Given the description of an element on the screen output the (x, y) to click on. 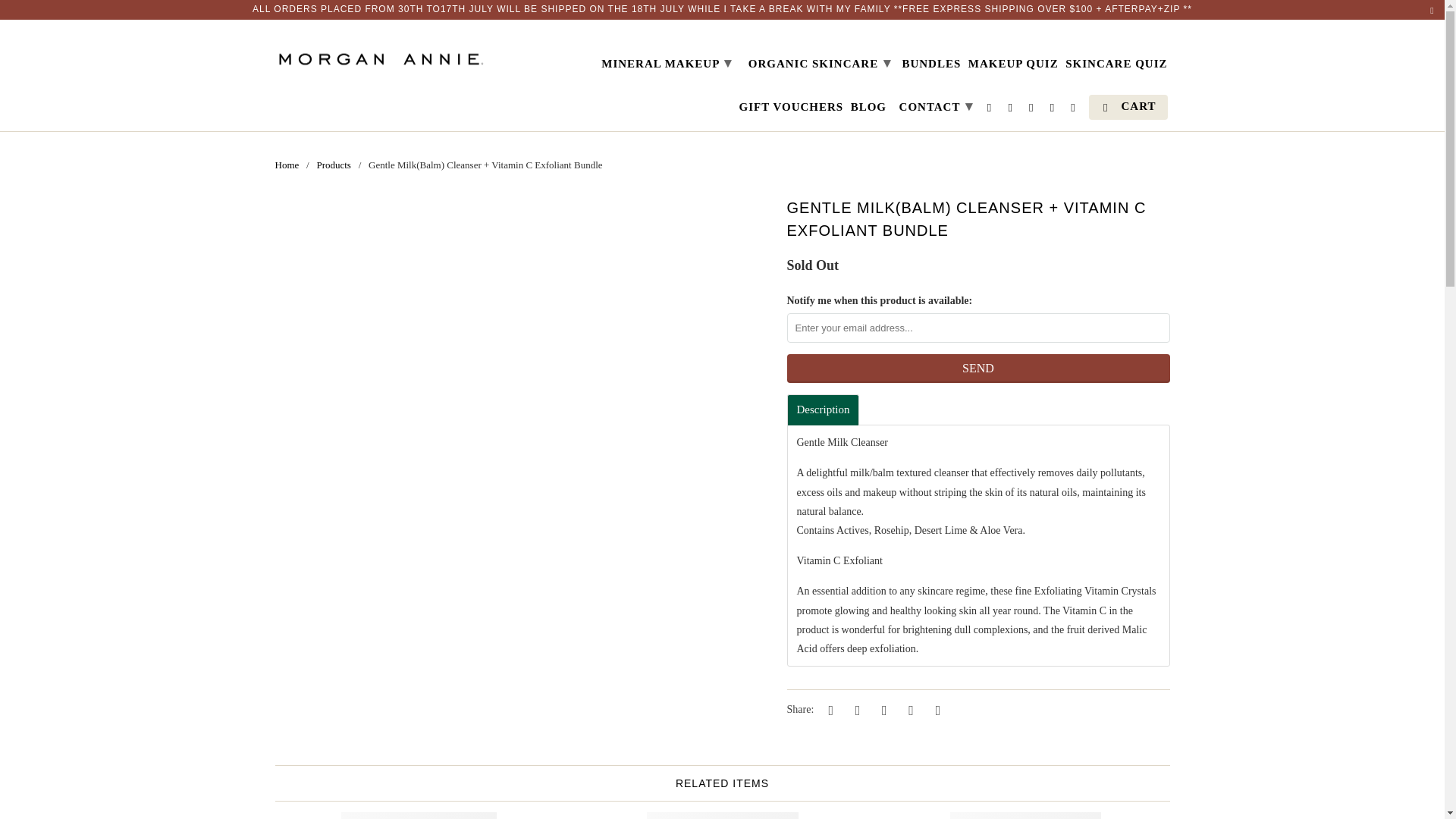
Products (332, 164)
Share this on Facebook (855, 709)
Share this on Twitter (828, 709)
Email this to a friend (935, 709)
Send (978, 368)
Morgan Annie Cosmetics (380, 53)
Share this on Pinterest (881, 709)
Morgan Annie Cosmetics (286, 164)
